Given the description of an element on the screen output the (x, y) to click on. 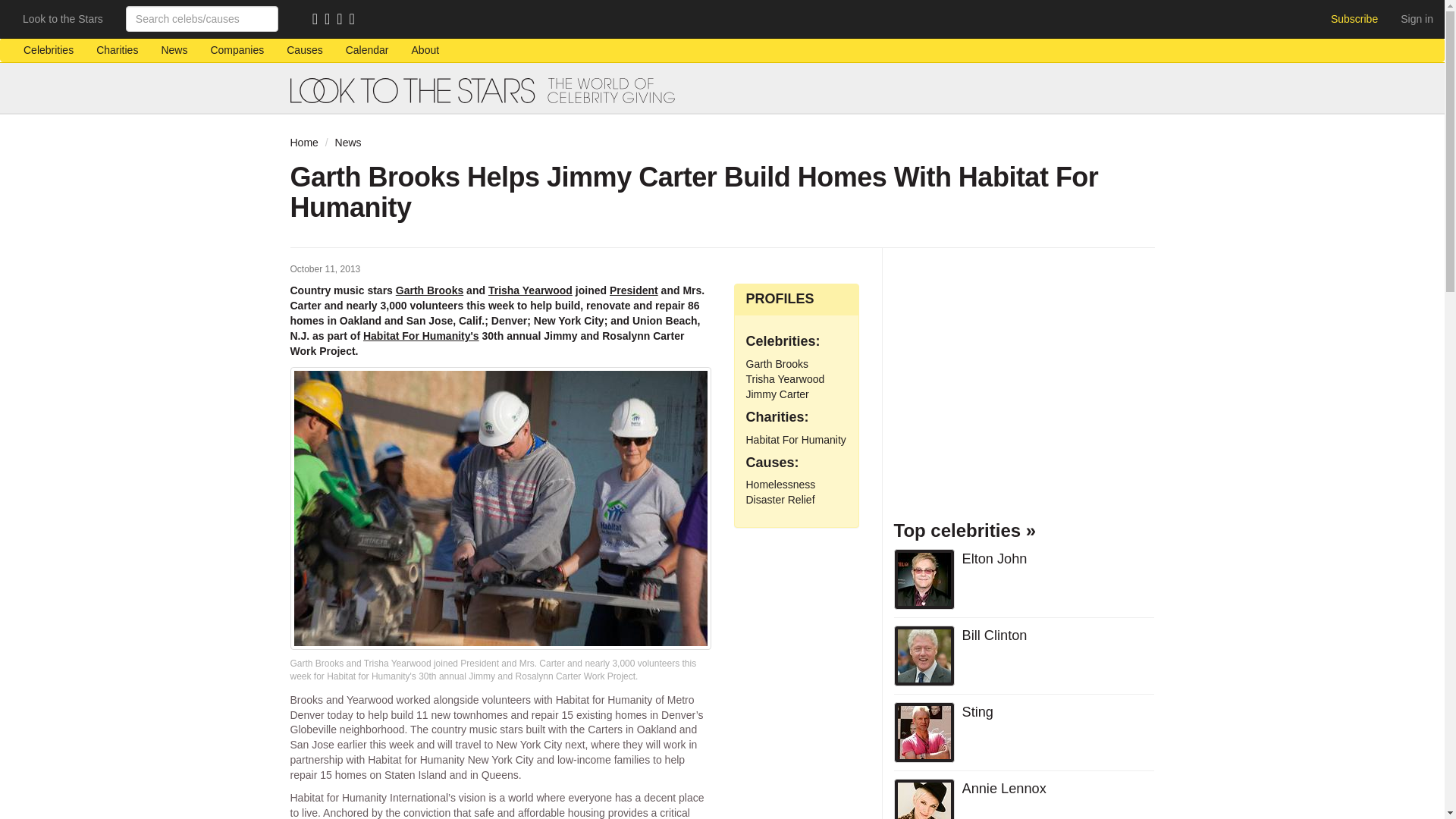
Subscribe (1354, 18)
2396 charities with celebrity supporters (116, 49)
News (347, 142)
Habitat For Humanity (795, 439)
Companies (236, 49)
Look to the Stars (63, 18)
Charities (116, 49)
Find out more about this website (425, 49)
Get our news by email (330, 20)
Charitable areas of interest (304, 49)
Follow us on Twitter (342, 20)
Look to the Stars - the world of celebrity giving (721, 90)
4645 celebrities supporting charities (47, 49)
Mailing list (330, 20)
Subscribe to our feed (318, 20)
